Given the description of an element on the screen output the (x, y) to click on. 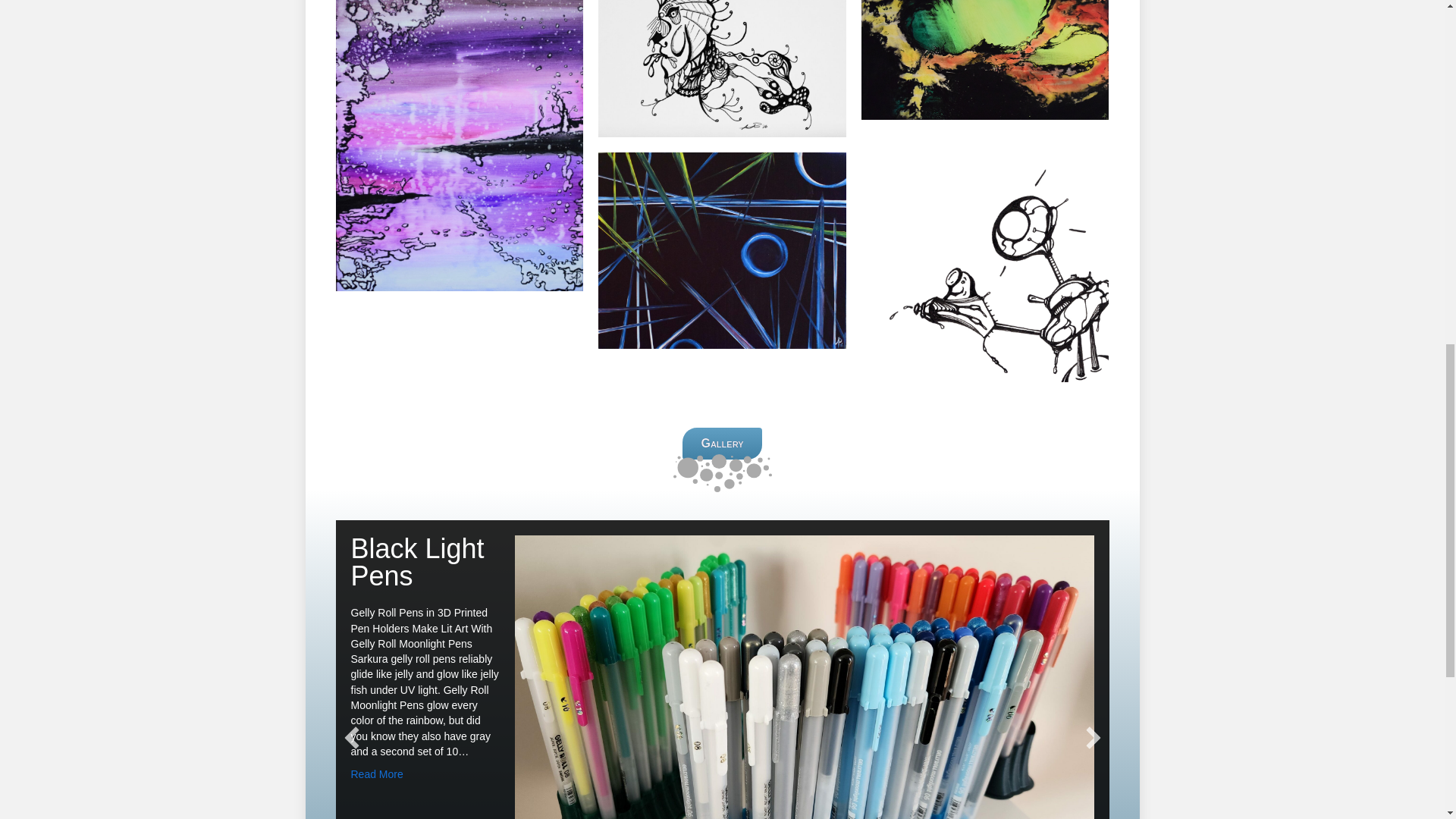
Gallery (721, 443)
Read More (376, 774)
Divaricate (985, 59)
Trifecta (721, 250)
The Catch (985, 259)
Black Light Pens (416, 562)
Jasmine (721, 68)
Black Light Pens (416, 562)
